Given the description of an element on the screen output the (x, y) to click on. 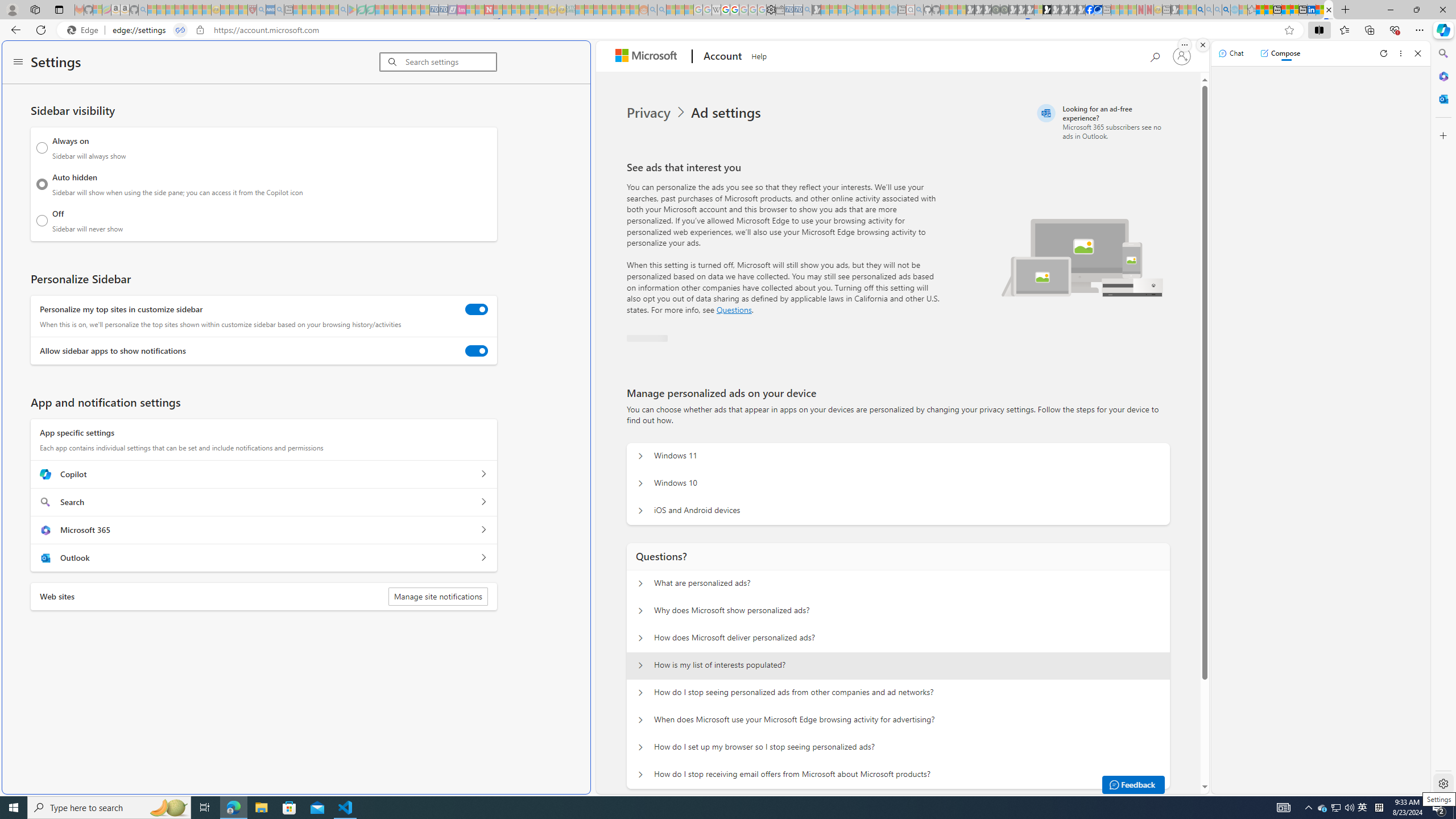
Aberdeen, Hong Kong SAR weather forecast | Microsoft Weather (1268, 9)
Sign in to your account - Sleeping (1038, 9)
DITOGAMES AG Imprint - Sleeping (570, 9)
